Given the description of an element on the screen output the (x, y) to click on. 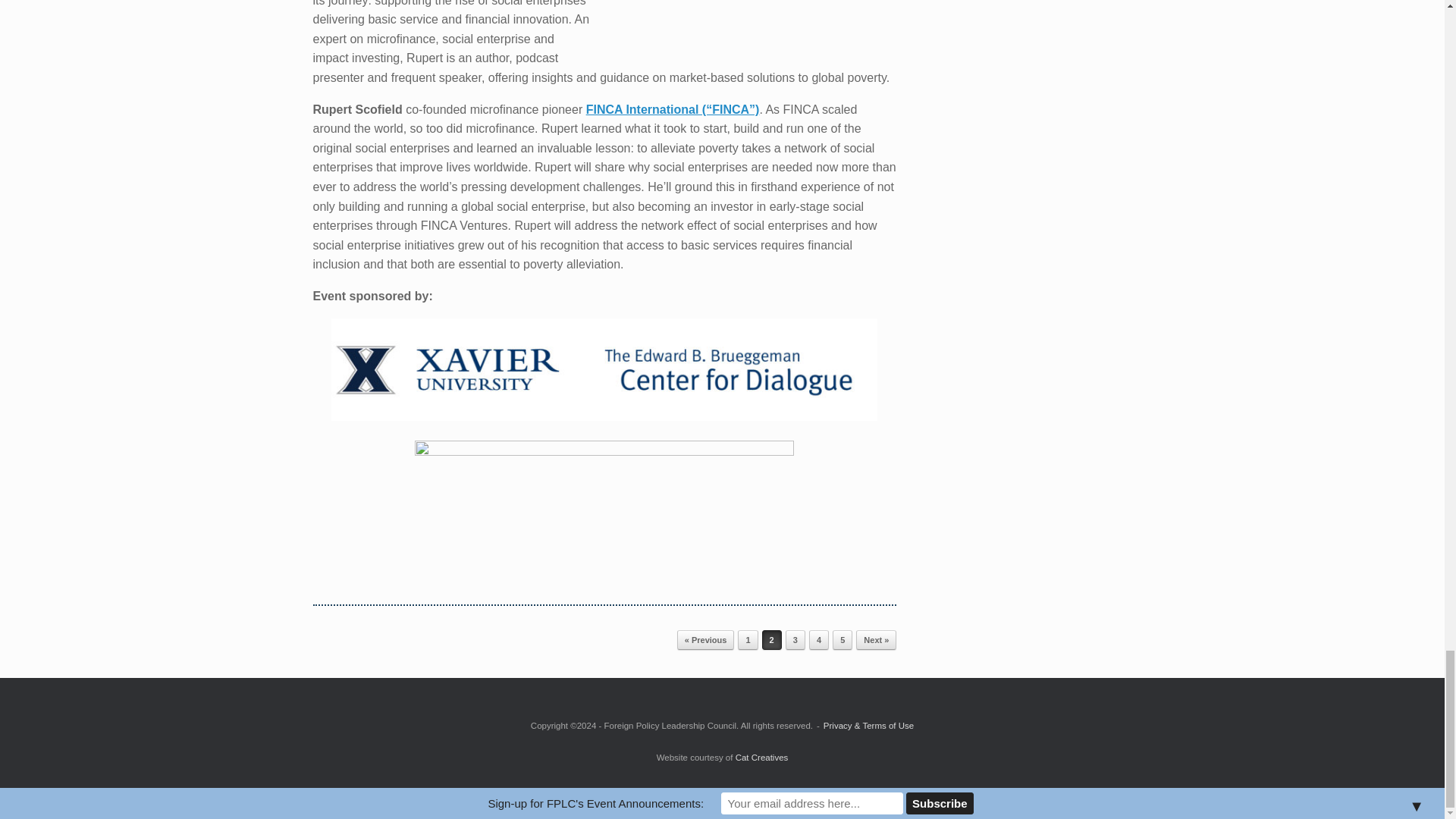
3 (795, 639)
5 (841, 639)
1 (747, 639)
4 (818, 639)
